Given the description of an element on the screen output the (x, y) to click on. 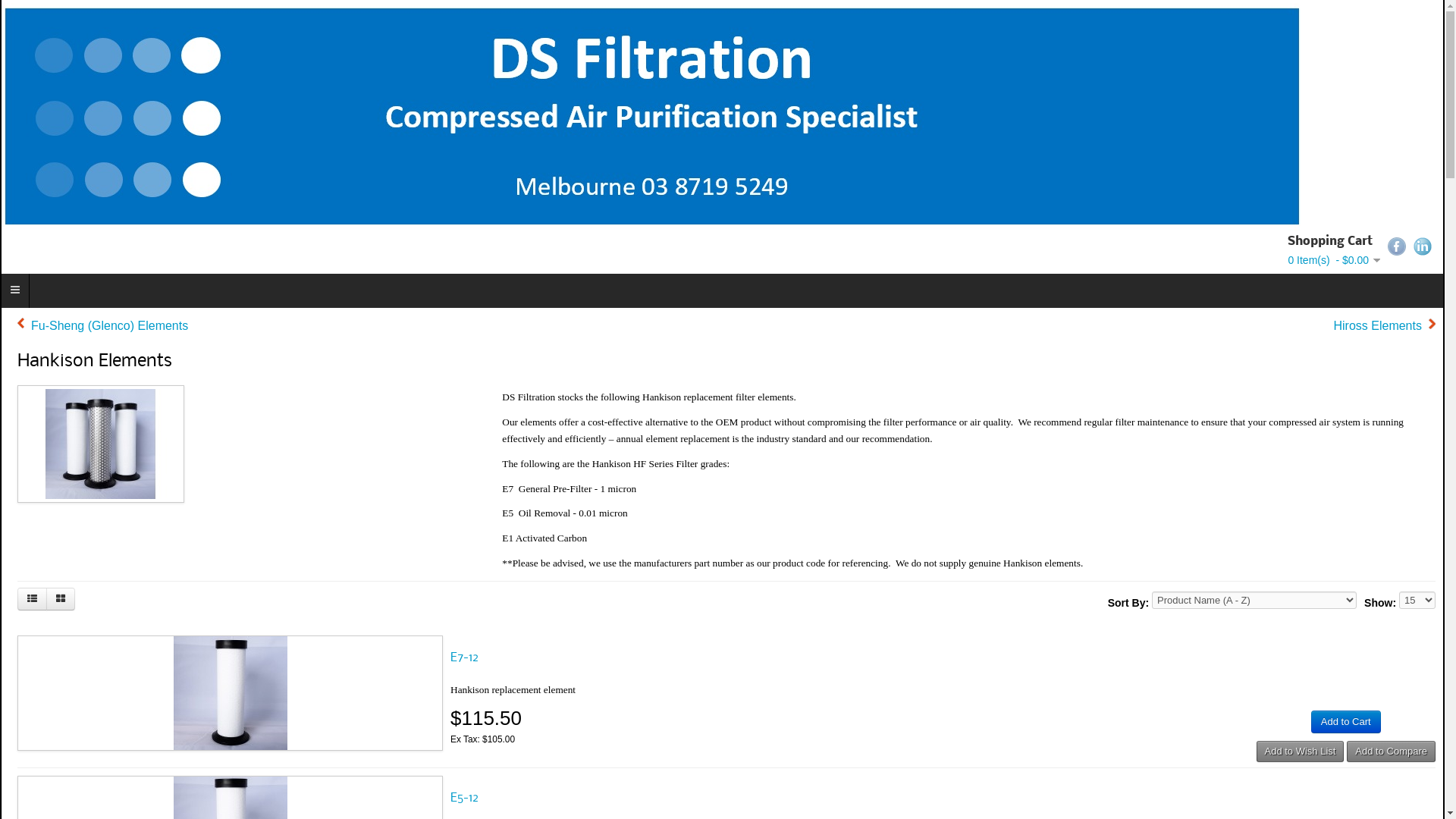
E5-12 Element type: hover (229, 784)
E7-12 Element type: text (464, 657)
Add to Wish List Element type: text (1299, 751)
E7-12 Element type: hover (229, 644)
E7-12 Element type: hover (229, 692)
Add to Cart Element type: text (1345, 721)
Add to Compare Element type: text (1390, 751)
Fu-Sheng (Glenco) Elements Element type: text (102, 325)
Hankison Elements Element type: hover (100, 443)
Facebook Element type: text (1396, 246)
LinkedIn Element type: text (1422, 246)
0 Item(s)  - $0.00 Element type: text (1333, 260)
E5-12 Element type: text (464, 797)
Hiross Elements Element type: text (1383, 325)
